Given the description of an element on the screen output the (x, y) to click on. 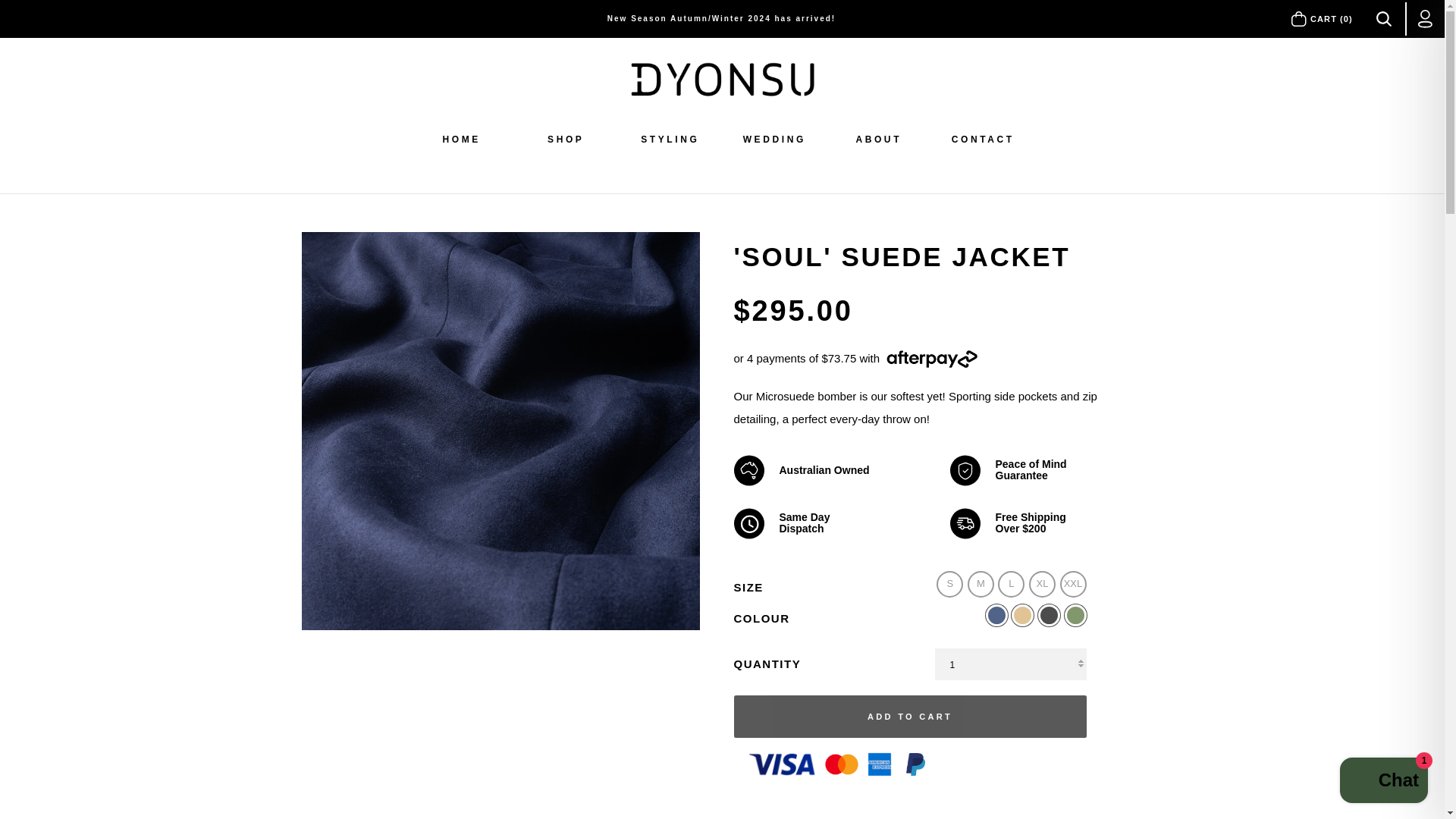
Khaki (1075, 614)
Tan (1022, 614)
Navy (996, 614)
Black (1048, 614)
WEDDING (774, 145)
S (949, 583)
STYLING (669, 145)
Shopify online store chat (1383, 781)
M (981, 583)
XXL (1072, 583)
L (1011, 583)
ABOUT (879, 145)
SHOP (565, 145)
HOME (461, 145)
XL (1042, 583)
